Given the description of an element on the screen output the (x, y) to click on. 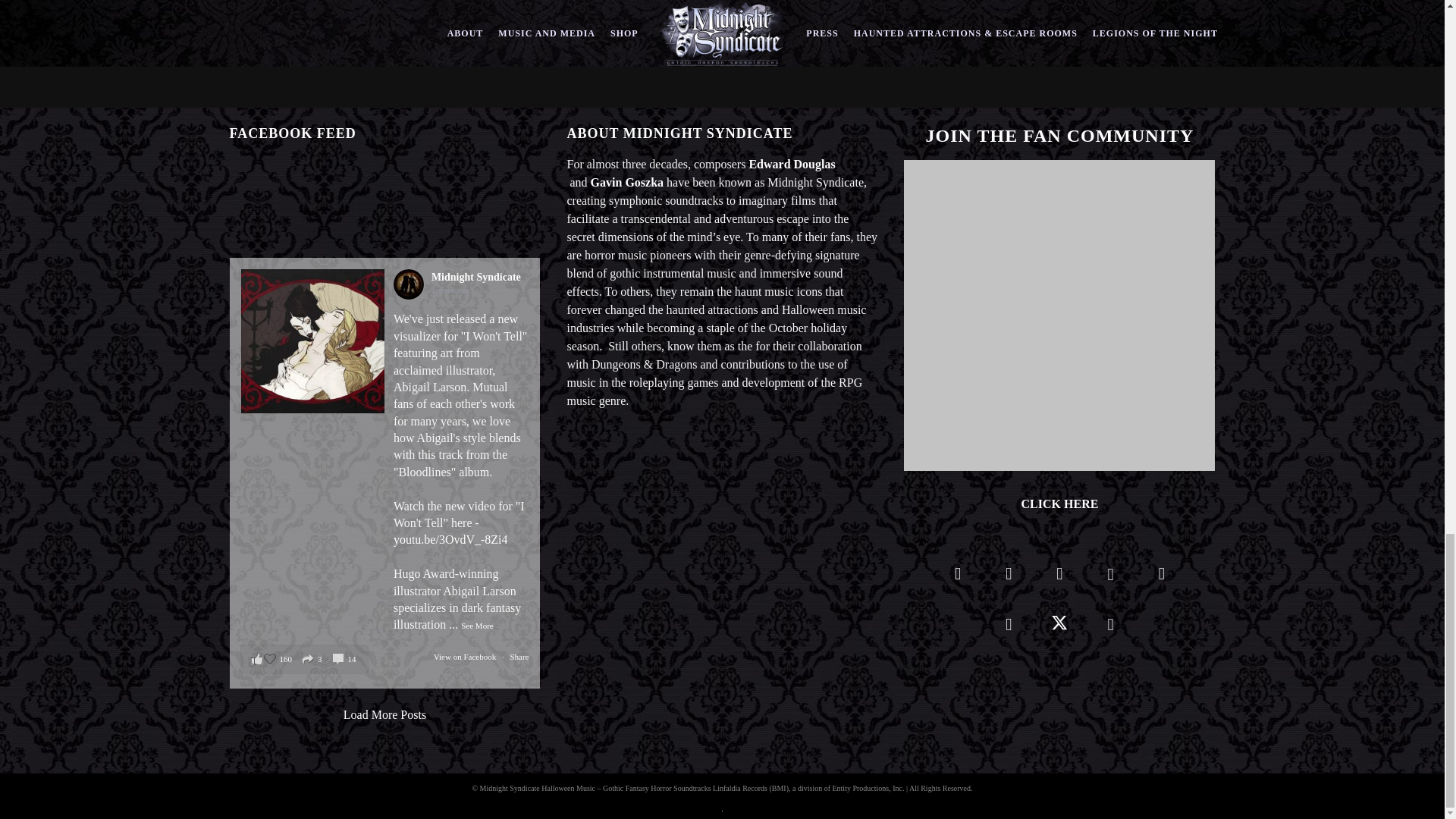
facebook (957, 578)
twitter (1059, 628)
spotify (1059, 578)
instagram (1008, 578)
Likebox Content (384, 210)
youtube (1110, 582)
email (1109, 628)
amazon (1160, 578)
apple (1008, 628)
View on Facebook (465, 655)
Share (518, 655)
